Given the description of an element on the screen output the (x, y) to click on. 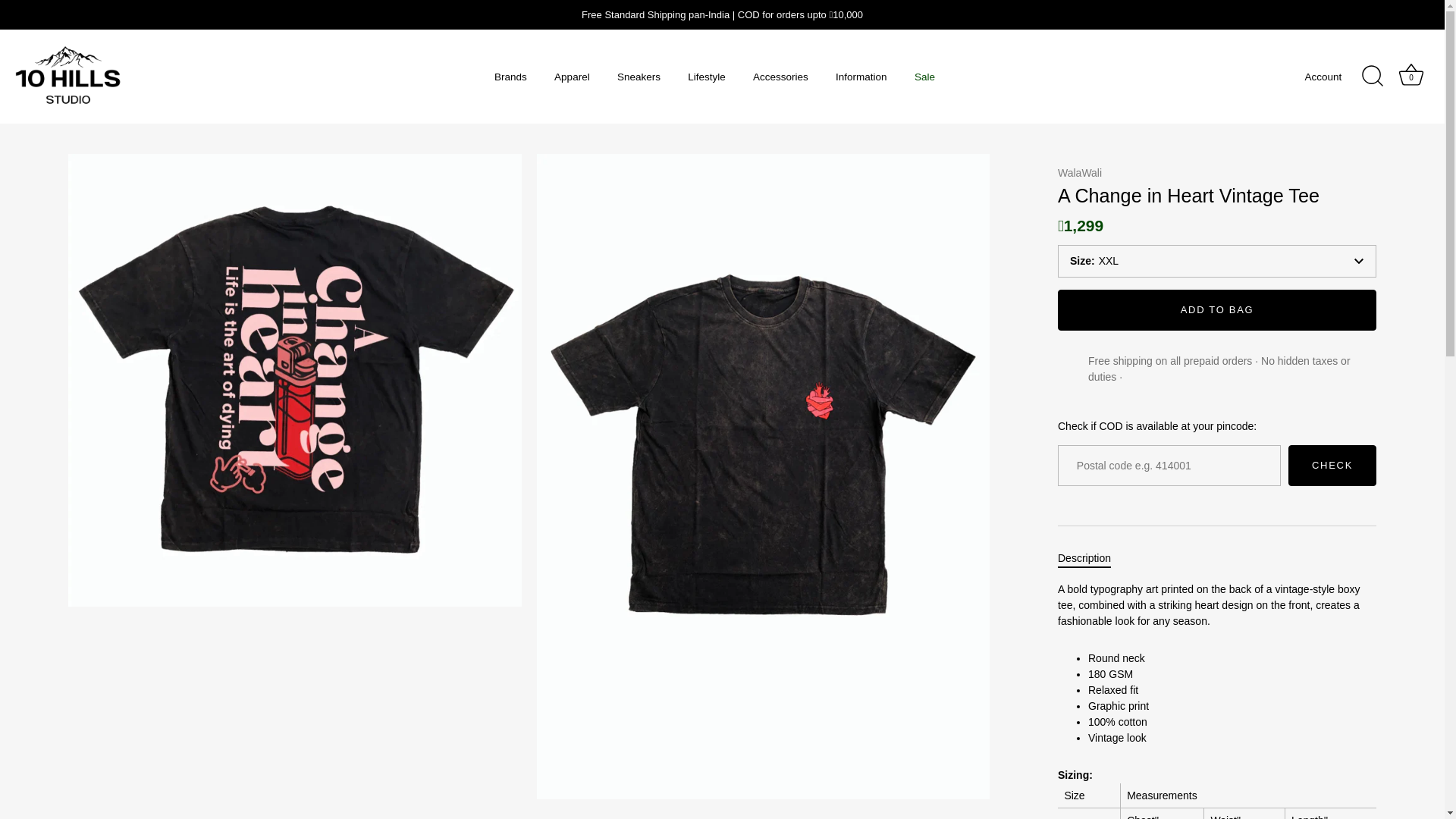
ADD TO BAG Element type: text (1216, 309)
Account Element type: text (1336, 76)
CHECK Element type: text (1332, 465)
Brands Element type: text (510, 76)
Sneakers Element type: text (638, 76)
WalaWali Element type: text (1079, 172)
Apparel Element type: text (572, 76)
Basket
0 Element type: text (1410, 76)
Sale Element type: text (924, 76)
Description Element type: text (1083, 558)
Information Element type: text (861, 76)
Accessories Element type: text (780, 76)
Lifestyle Element type: text (706, 76)
